Given the description of an element on the screen output the (x, y) to click on. 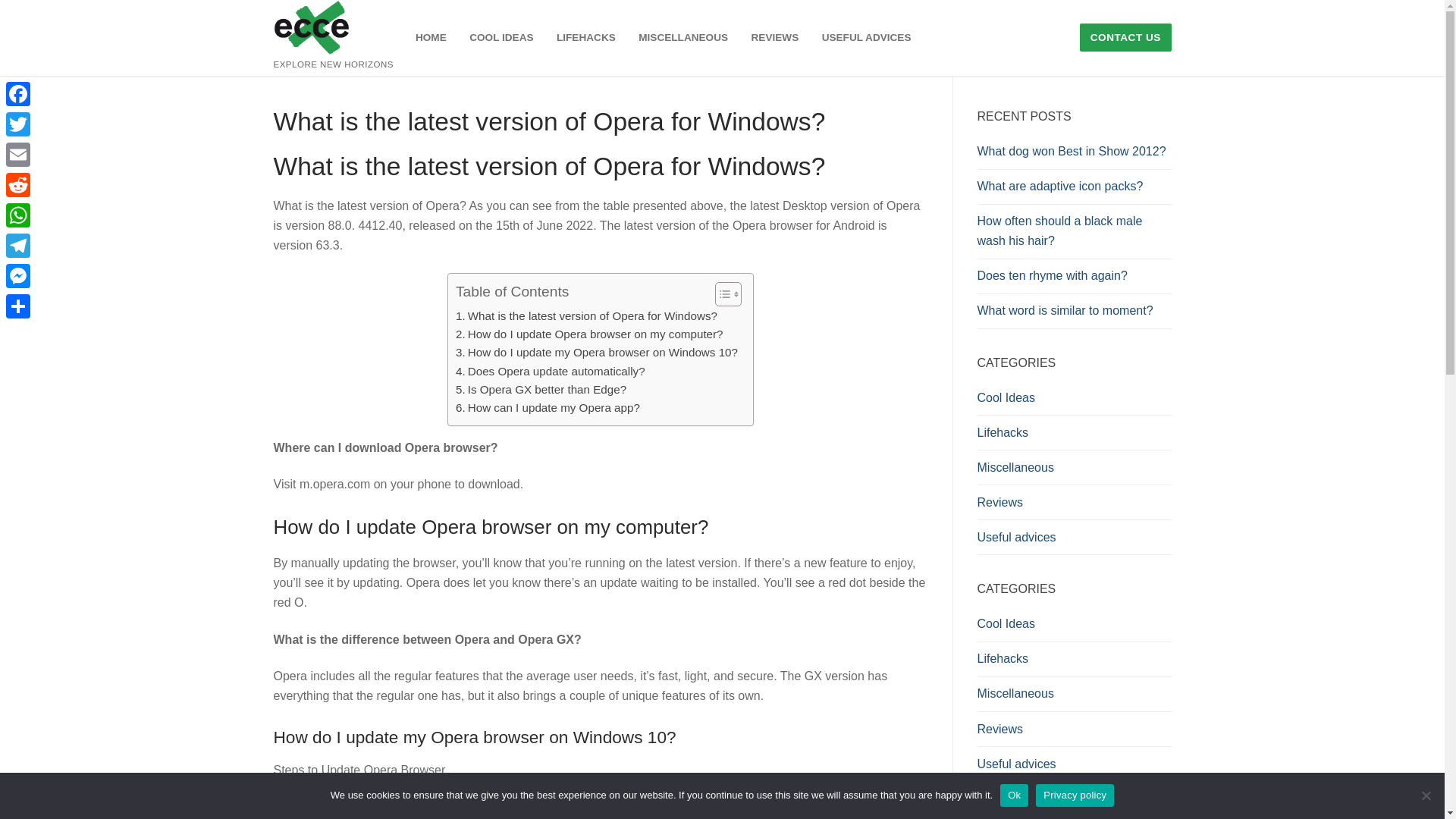
Is Opera GX better than Edge? (540, 389)
Twitter (17, 123)
What dog won Best in Show 2012? (1073, 154)
Is Opera GX better than Edge? (540, 389)
What is the latest version of Opera for Windows? (586, 316)
Telegram (17, 245)
Messenger (17, 276)
WhatsApp (17, 214)
Facebook (17, 93)
HOME (431, 37)
